Given the description of an element on the screen output the (x, y) to click on. 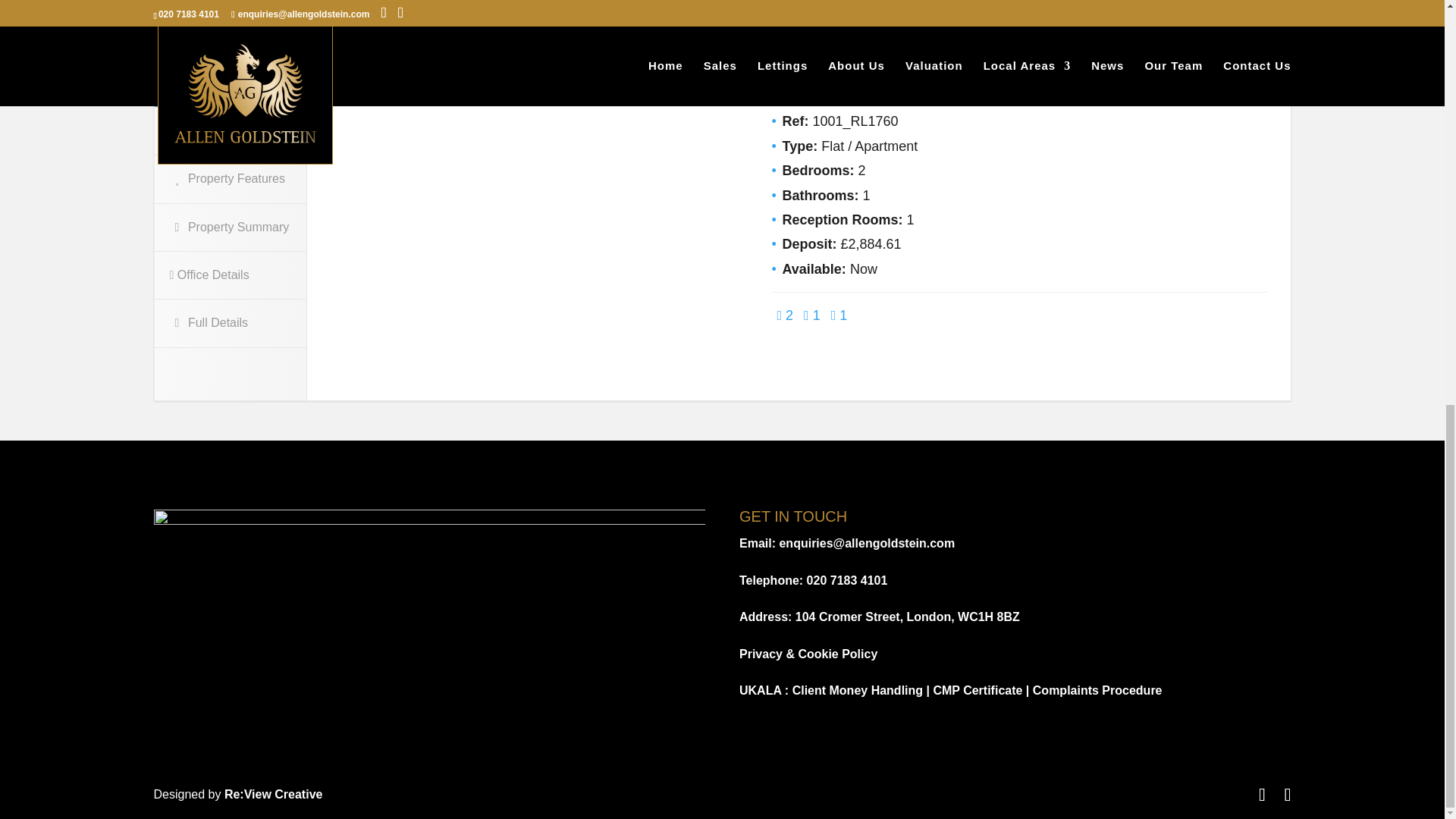
Street View (229, 130)
Property Summary (229, 226)
Full Details (229, 322)
Location (230, 82)
Property Features (229, 178)
Office Details (229, 274)
